Given the description of an element on the screen output the (x, y) to click on. 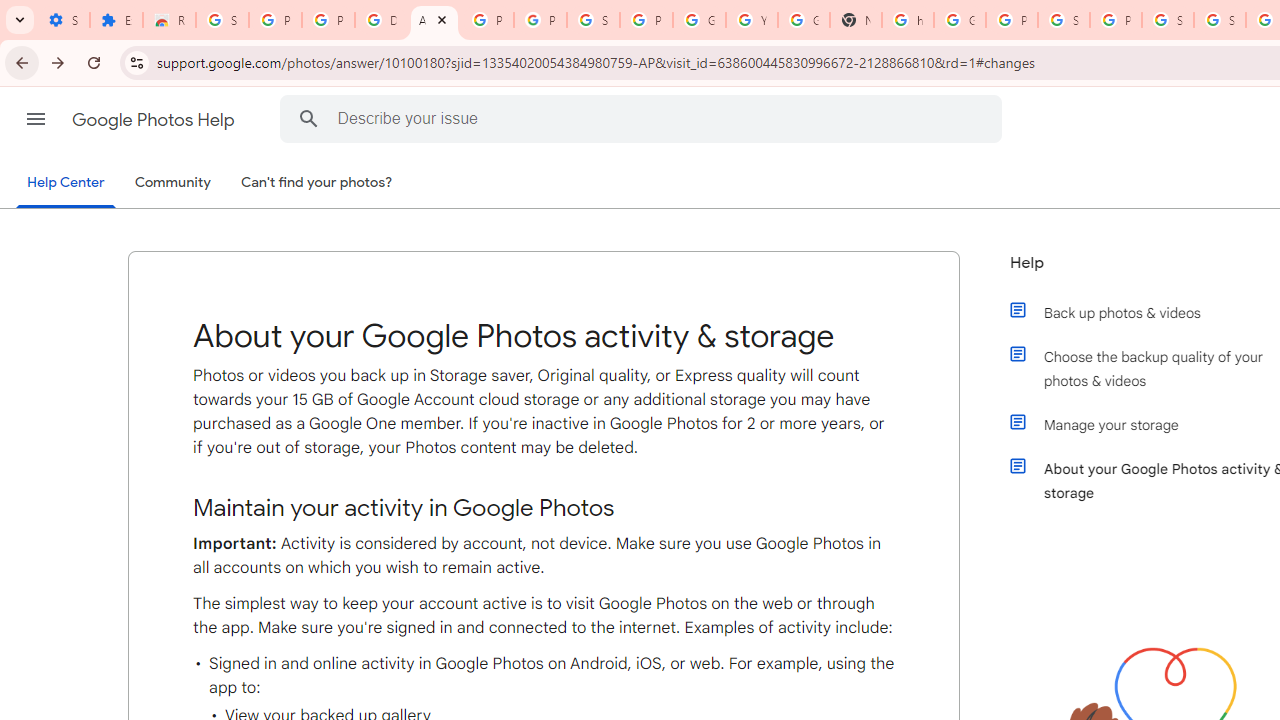
Sign in - Google Accounts (1219, 20)
https://scholar.google.com/ (907, 20)
Reviews: Helix Fruit Jump Arcade Game (169, 20)
New Tab (855, 20)
